Given the description of an element on the screen output the (x, y) to click on. 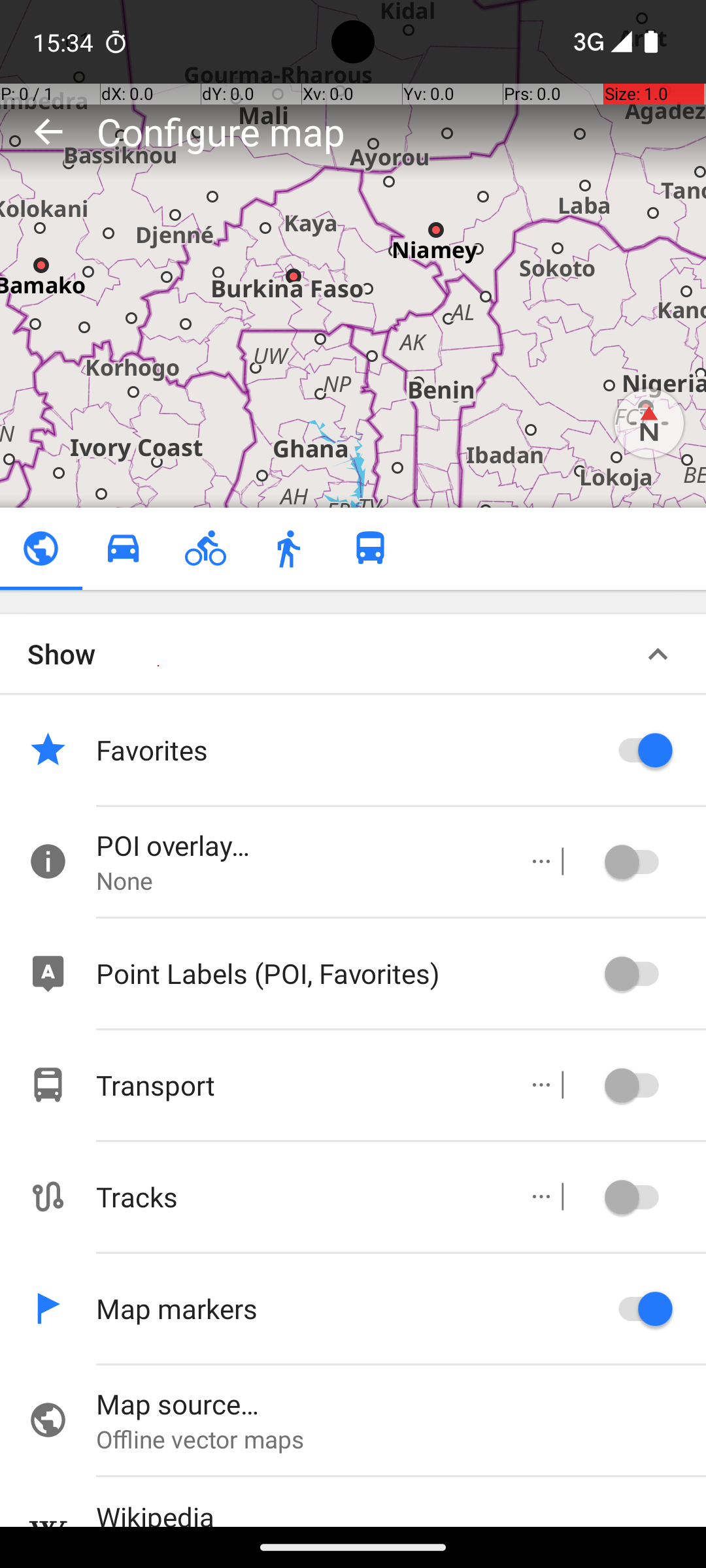
Browse map checked Element type: android.widget.ImageView (40, 548)
